Given the description of an element on the screen output the (x, y) to click on. 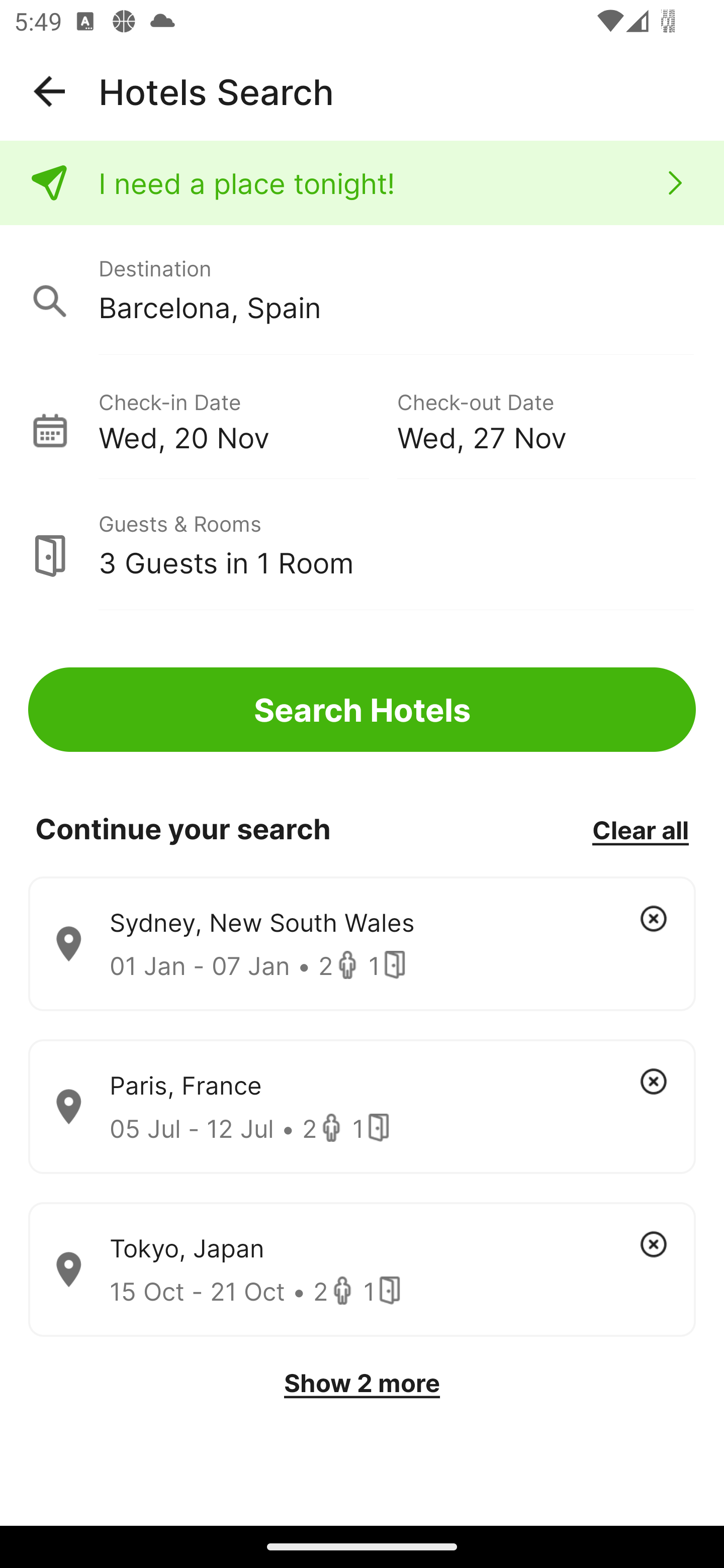
I need a place tonight! (362, 183)
Destination Barcelona, Spain (362, 290)
Check-in Date Wed, 20 Nov (247, 418)
Check-out Date Wed, 27 Nov (546, 418)
Guests & Rooms 3 Guests in 1 Room (362, 545)
Search Hotels (361, 709)
Clear all (640, 829)
Sydney, New South Wales 01 Jan - 07 Jan • 2  1  (361, 943)
Paris, France 05 Jul - 12 Jul • 2  1  (361, 1106)
Tokyo, Japan 15 Oct - 21 Oct • 2  1  (361, 1269)
Show 2 more (362, 1382)
